Given the description of an element on the screen output the (x, y) to click on. 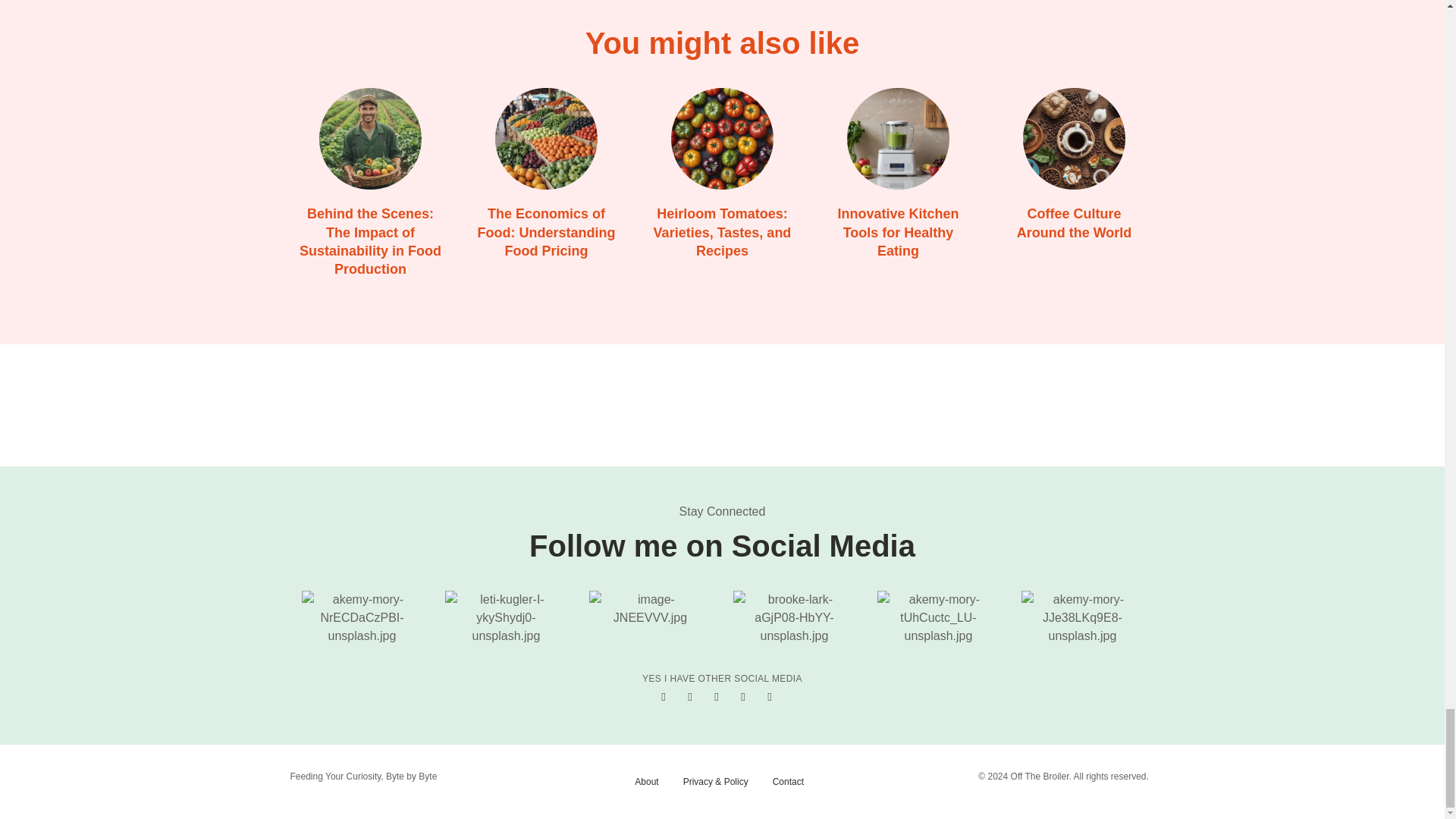
Coffee Culture Around the World (1074, 222)
akemy-mory-JJe38LKq9E8-unsplash.jpg (1082, 617)
Heirloom Tomatoes: Varieties, Tastes, and Recipes (721, 138)
Innovative Kitchen Tools for Healthy Eating (897, 138)
Innovative Kitchen Tools for Healthy Eating (897, 232)
leti-kugler-I-ykyShydj0-unsplash.jpg (505, 617)
Heirloom Tomatoes: Varieties, Tastes, and Recipes (722, 232)
The Economics of Food: Understanding Food Pricing (546, 232)
Coffee Culture Around the World (1073, 138)
The Economics of Food: Understanding Food Pricing (544, 138)
image-JNEEVVV.jpg (649, 608)
brooke-lark-aGjP08-HbYY-unsplash.jpg (793, 617)
akemy-mory-NrECDaCzPBI-unsplash.jpg (362, 617)
